Given the description of an element on the screen output the (x, y) to click on. 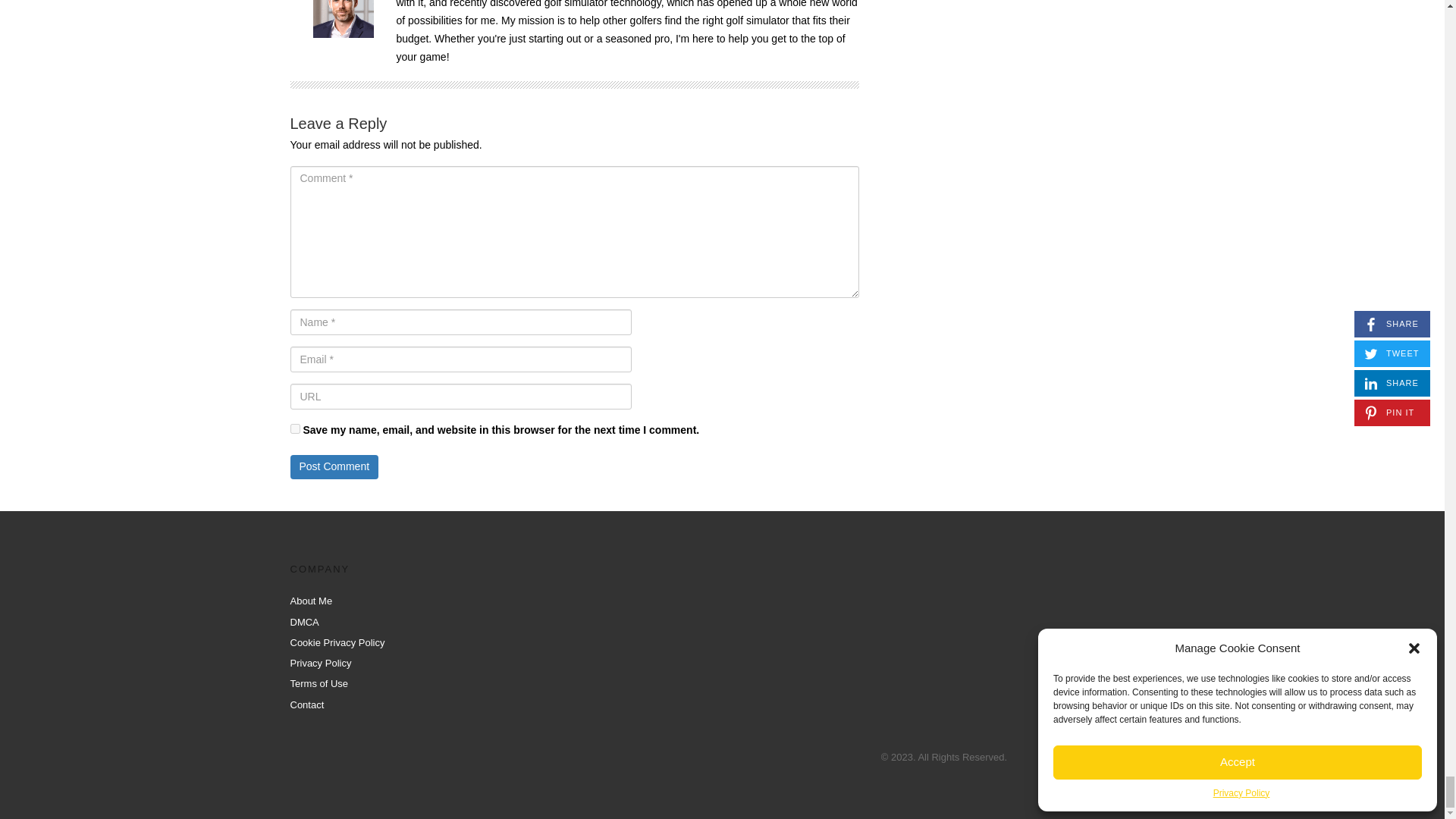
Post Comment (333, 467)
yes (294, 429)
